Given the description of an element on the screen output the (x, y) to click on. 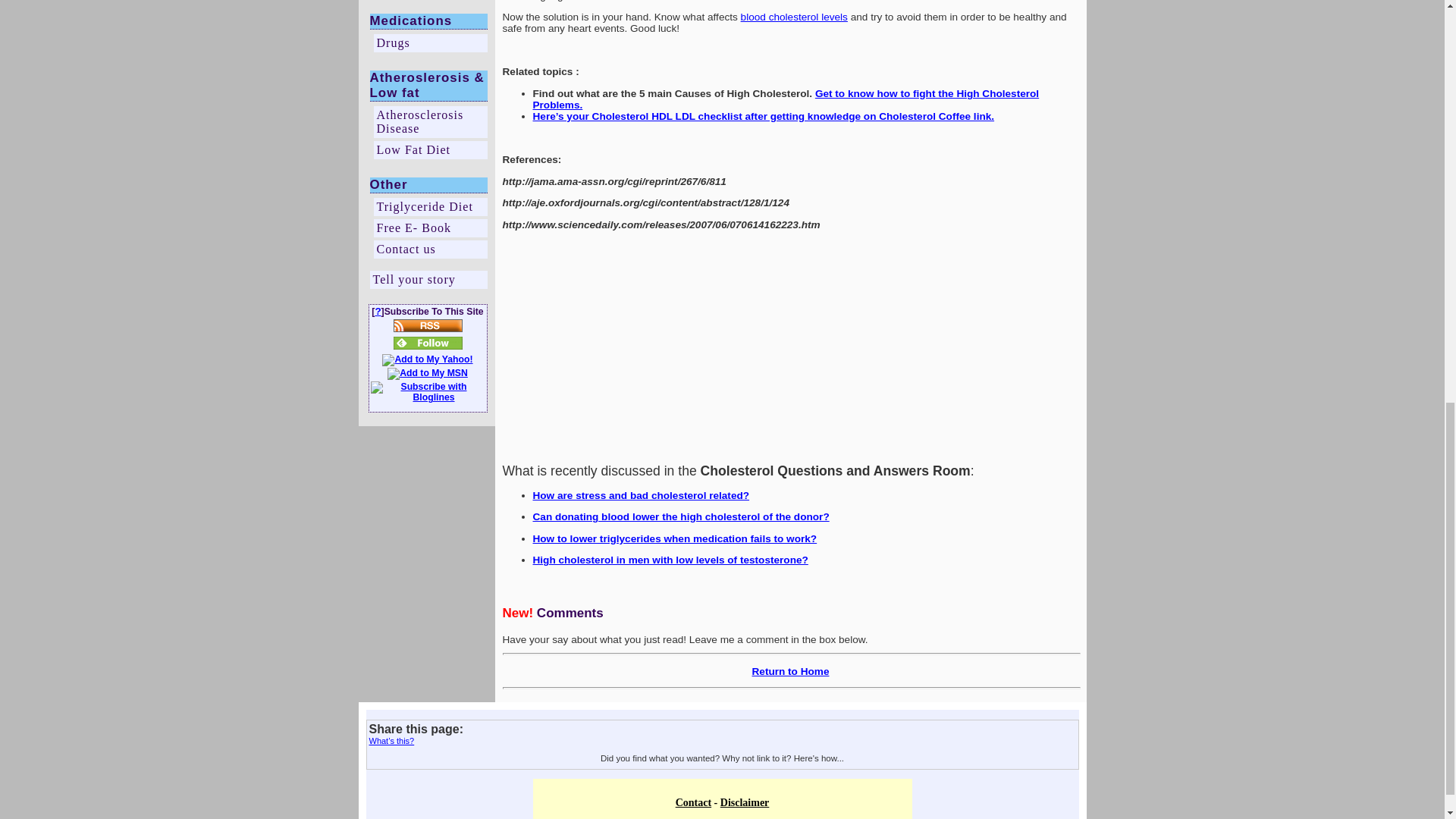
Contact us (429, 249)
Low Fat Diet (429, 149)
Contact (693, 802)
Atherosclerosis Disease (429, 122)
Free E- Book (429, 228)
Disclaimer (745, 802)
Tell your story (428, 280)
Get to know how to fight the High Cholesterol Problems. (785, 98)
Can donating blood lower the high cholesterol of the donor? (680, 516)
How to lower triglycerides when medication fails to work? (674, 538)
